Given the description of an element on the screen output the (x, y) to click on. 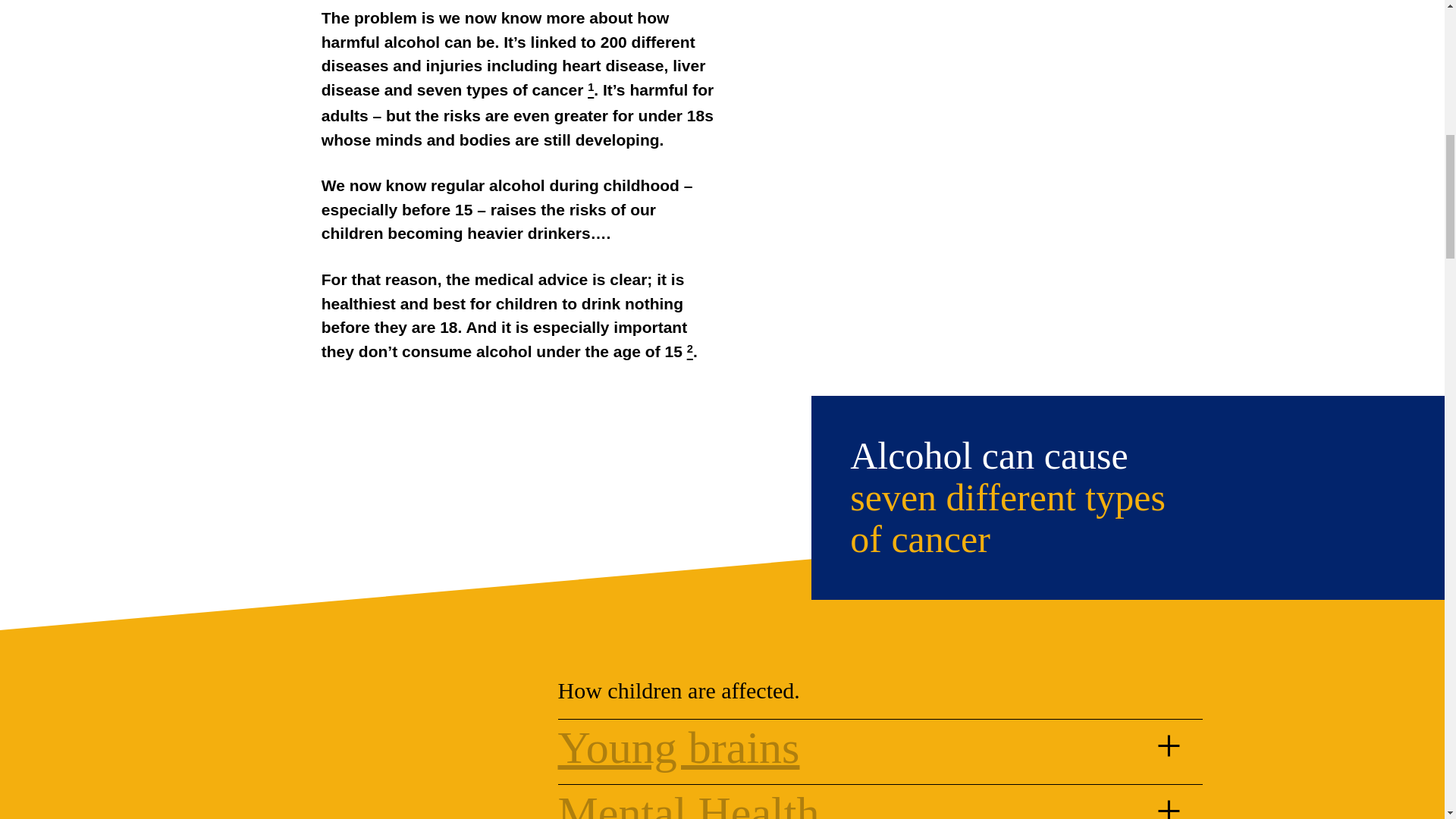
Mental Health (688, 803)
Young brains (678, 747)
